Given the description of an element on the screen output the (x, y) to click on. 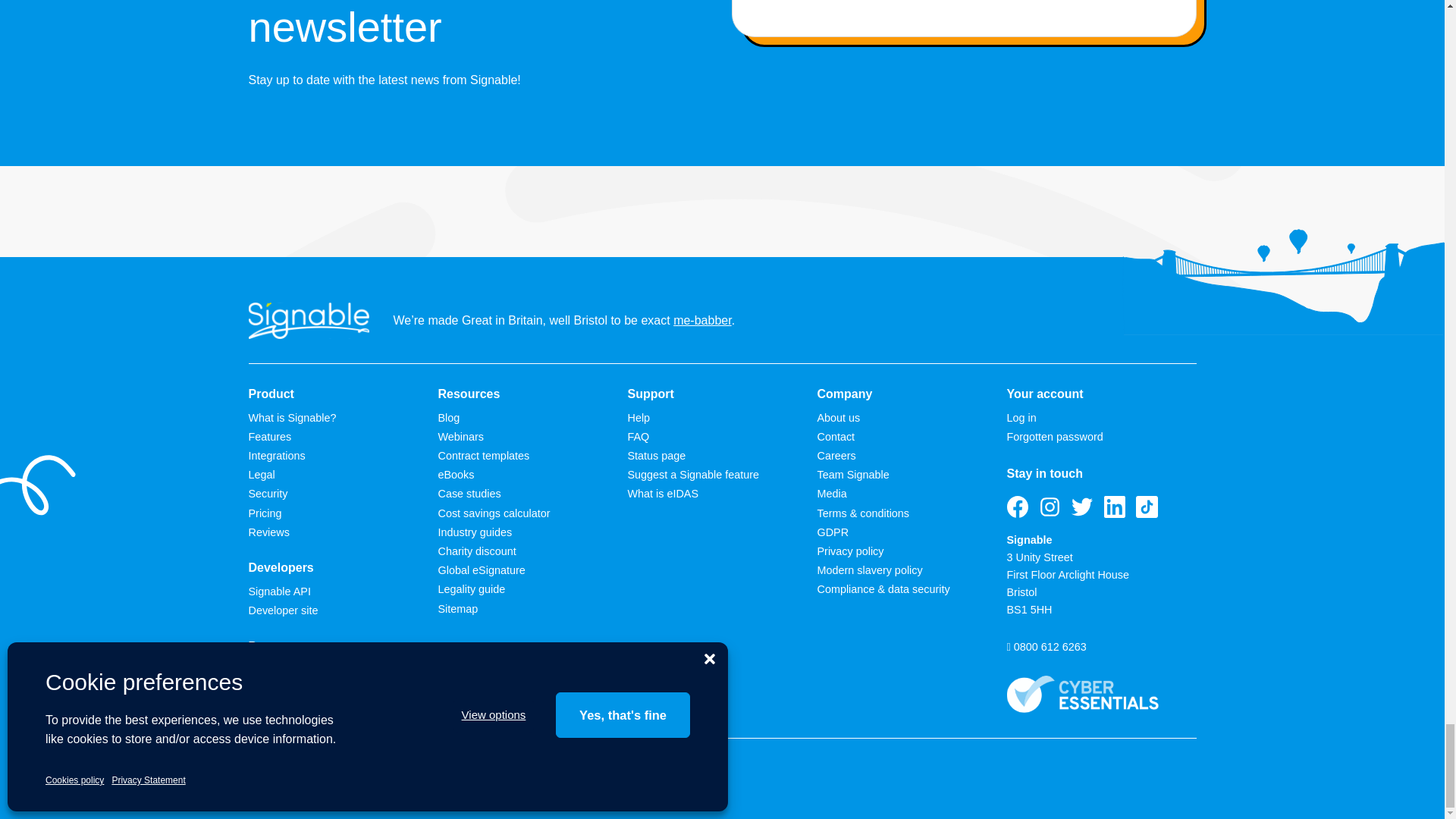
TikTok (1146, 506)
Facebook (1017, 506)
Cyber essentials (1082, 693)
Instagram (1050, 506)
LinkedIn (1114, 506)
Twitter (1082, 506)
Clifton suspension bridge (1283, 282)
Signable logo (308, 320)
